Given the description of an element on the screen output the (x, y) to click on. 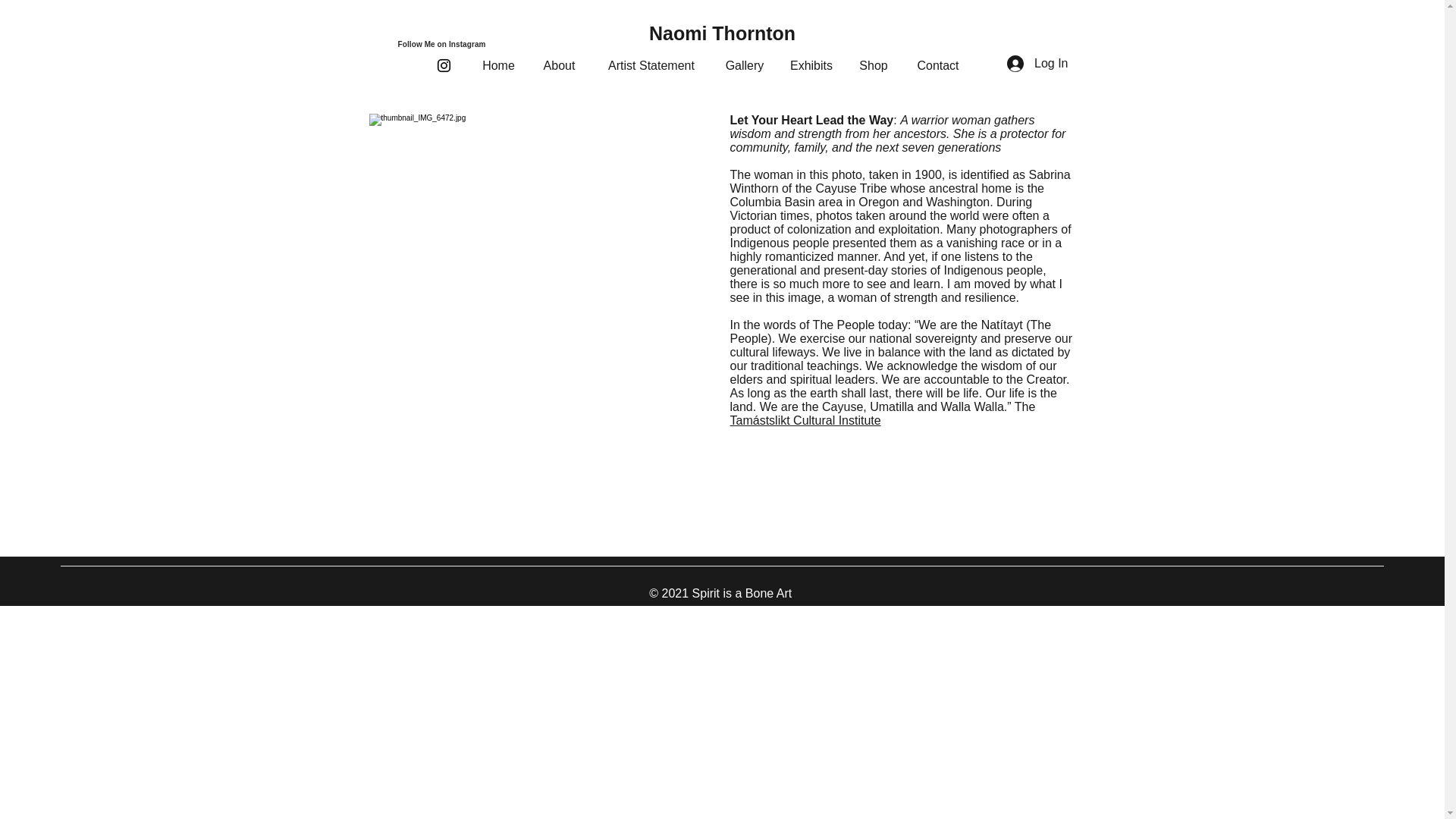
Exhibits (810, 65)
Home (497, 65)
Artist Statement (650, 65)
About (558, 65)
Gallery (745, 65)
Naomi Thornton (721, 33)
Shop (873, 65)
Log In (1036, 63)
Contact (937, 65)
